Given the description of an element on the screen output the (x, y) to click on. 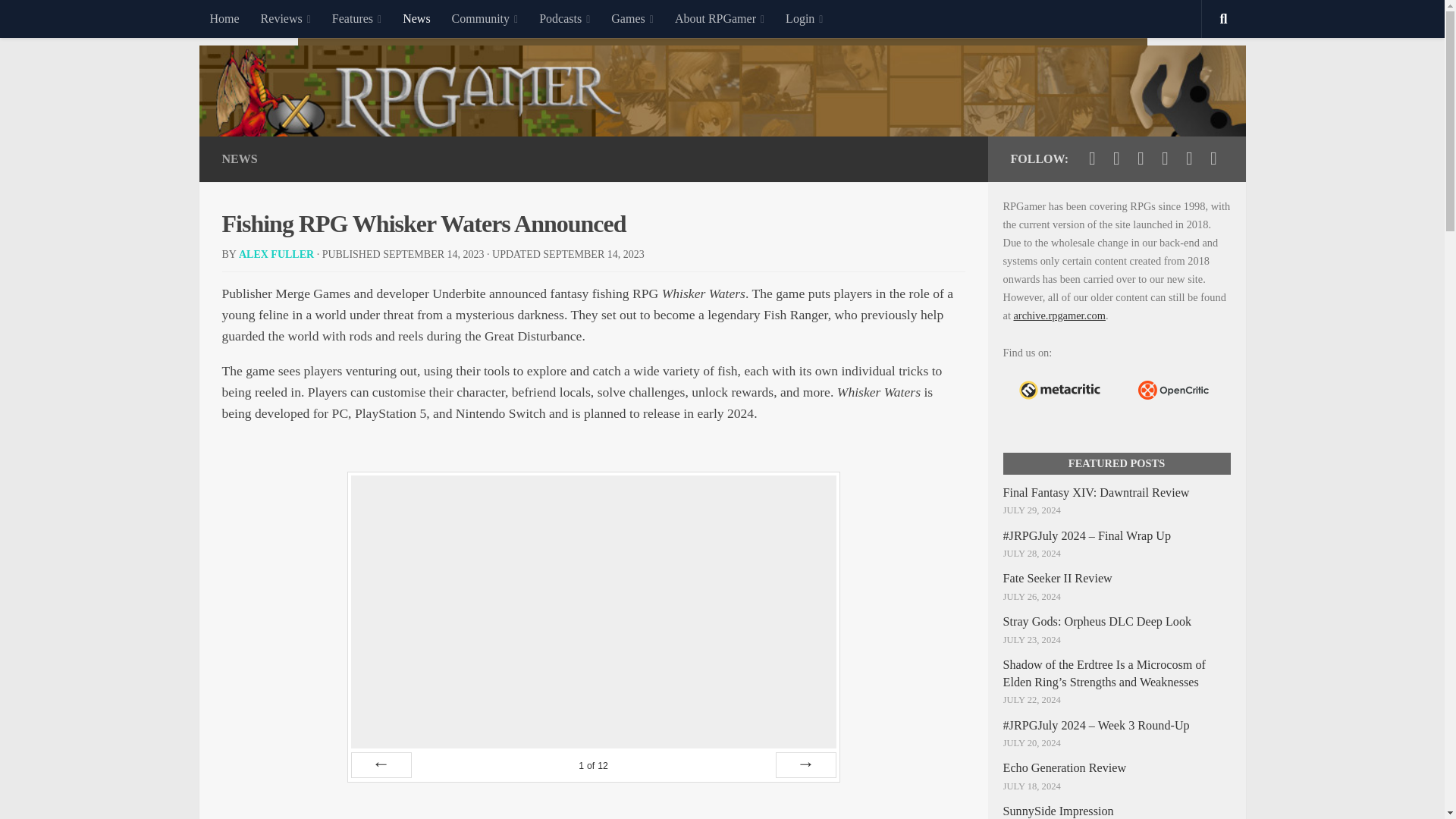
Follow us on Facebook (1115, 158)
Posts by Alex Fuller (276, 254)
Skip to content (59, 20)
Follow us on Discord (1188, 158)
Follow us on Youtube (1140, 158)
Follow us on Twitch (1164, 158)
Follow us on Twitter (1091, 158)
Follow us on Rss (1213, 158)
